Given the description of an element on the screen output the (x, y) to click on. 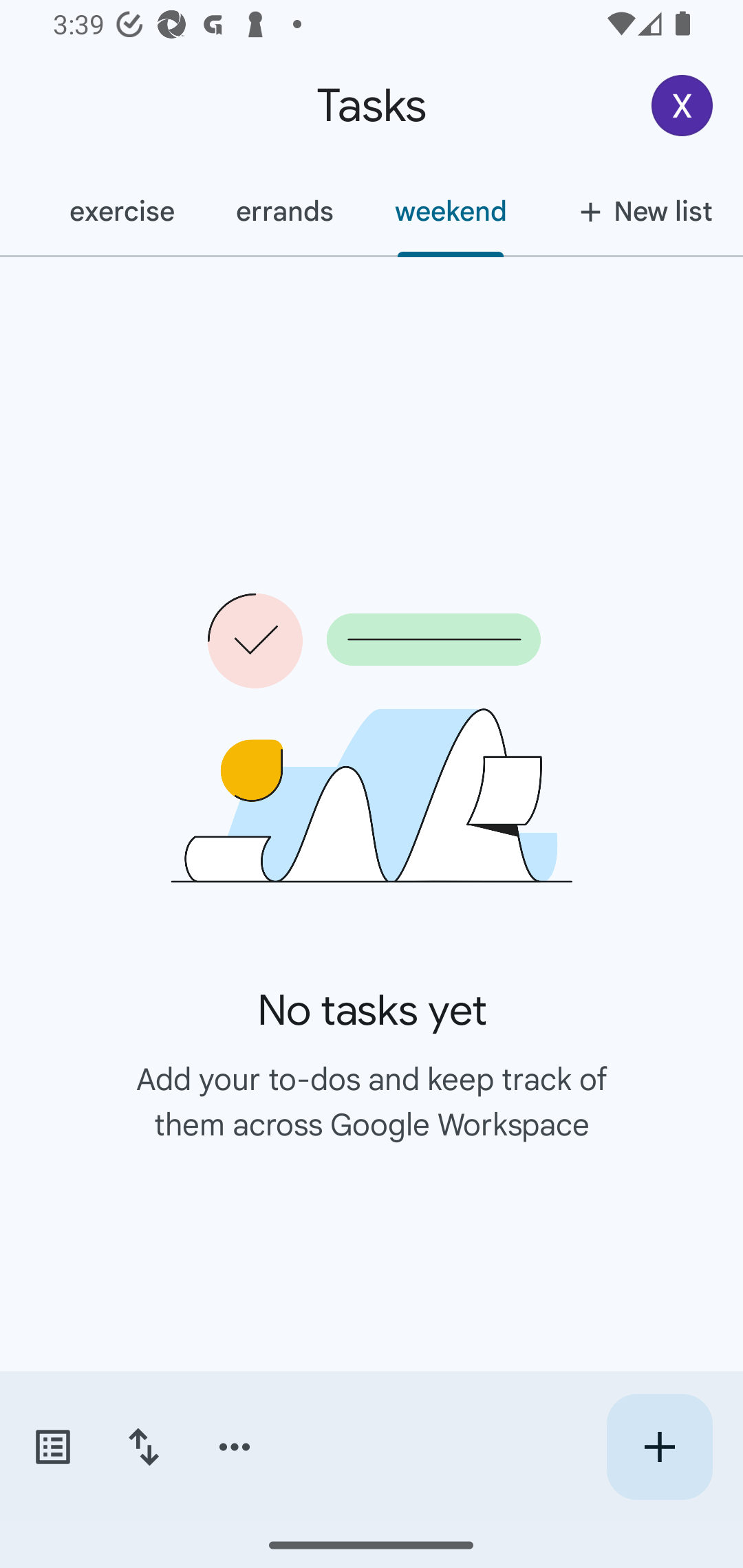
exercise (121, 211)
errands (284, 211)
New list (640, 211)
Switch task lists (52, 1447)
Create new task (659, 1446)
Change sort order (143, 1446)
More options (234, 1446)
